Given the description of an element on the screen output the (x, y) to click on. 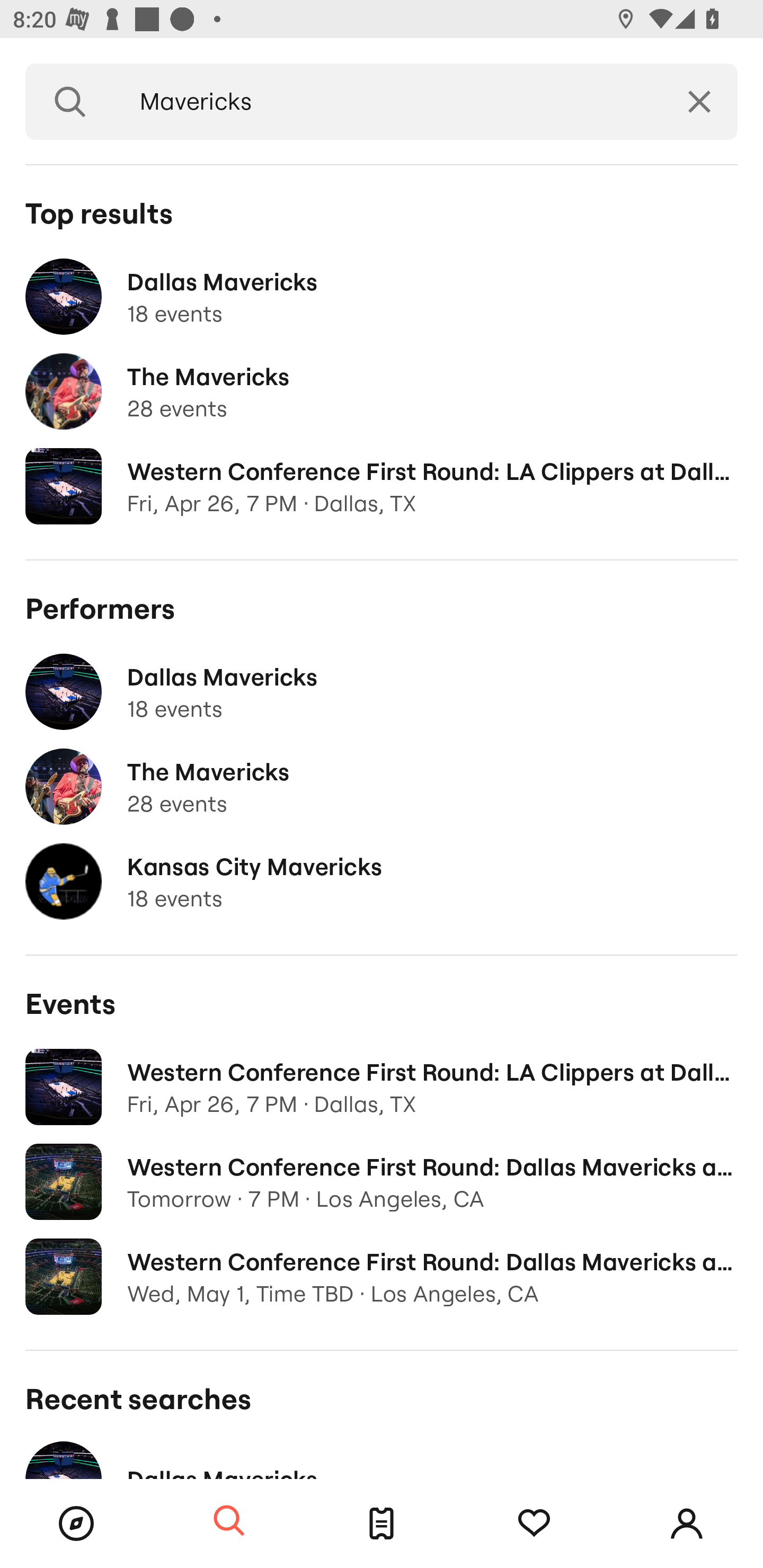
Search (69, 101)
Mavericks (387, 101)
Clear (699, 101)
Dallas Mavericks 18 events (381, 296)
The Mavericks 28 events (381, 391)
Dallas Mavericks 18 events (381, 692)
The Mavericks 28 events (381, 787)
Kansas City Mavericks 18 events (381, 881)
Browse (76, 1523)
Search (228, 1521)
Tickets (381, 1523)
Tracking (533, 1523)
Account (686, 1523)
